Given the description of an element on the screen output the (x, y) to click on. 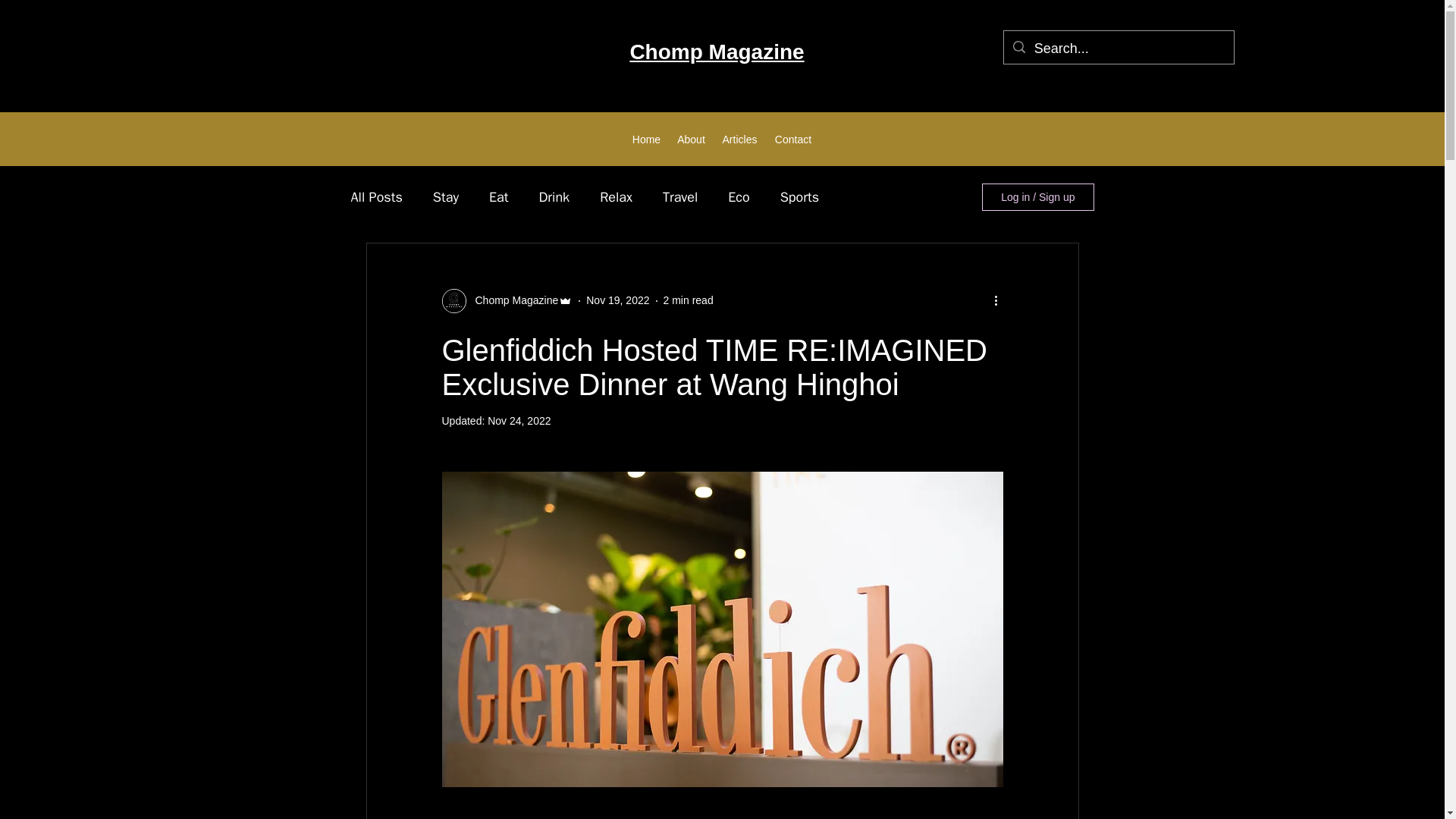
Stay (445, 197)
2 min read (688, 300)
Chomp Magazine (715, 51)
Articles (739, 138)
Relax (615, 197)
Contact (793, 138)
Drink (553, 197)
Sports (799, 197)
Eco (738, 197)
Travel (679, 197)
